Given the description of an element on the screen output the (x, y) to click on. 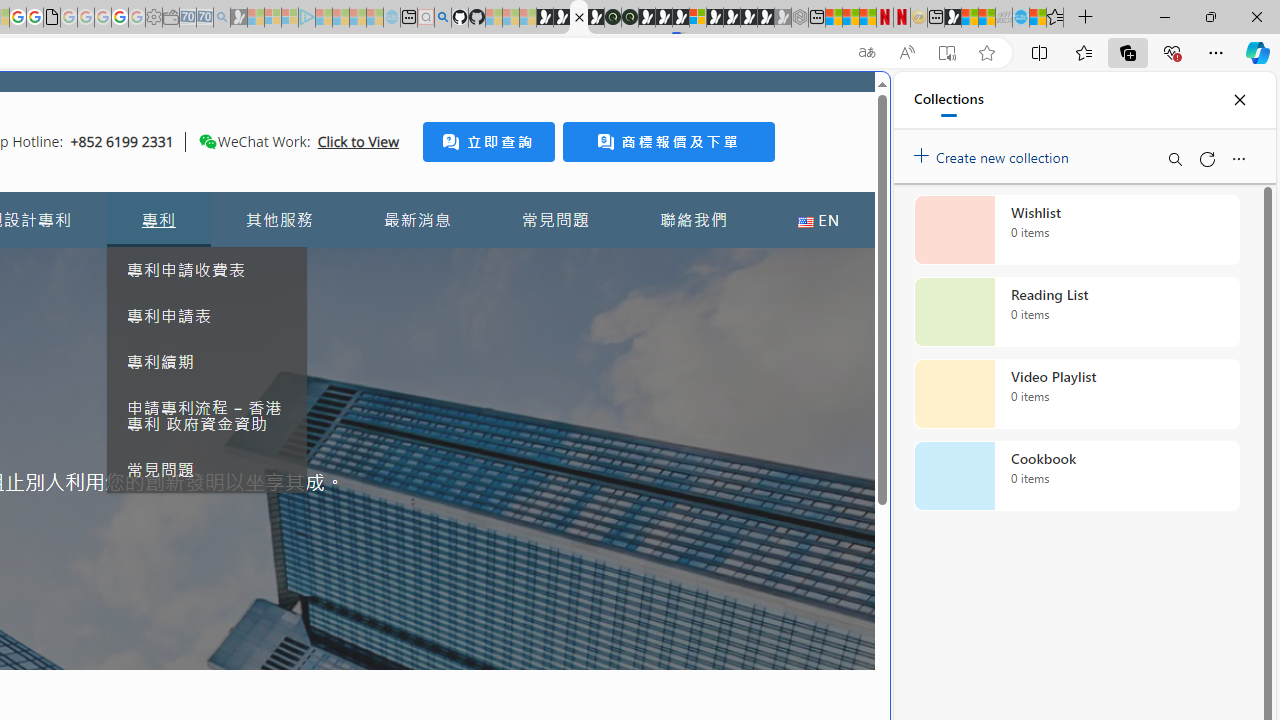
EN (818, 220)
More options menu (1238, 158)
